Given the description of an element on the screen output the (x, y) to click on. 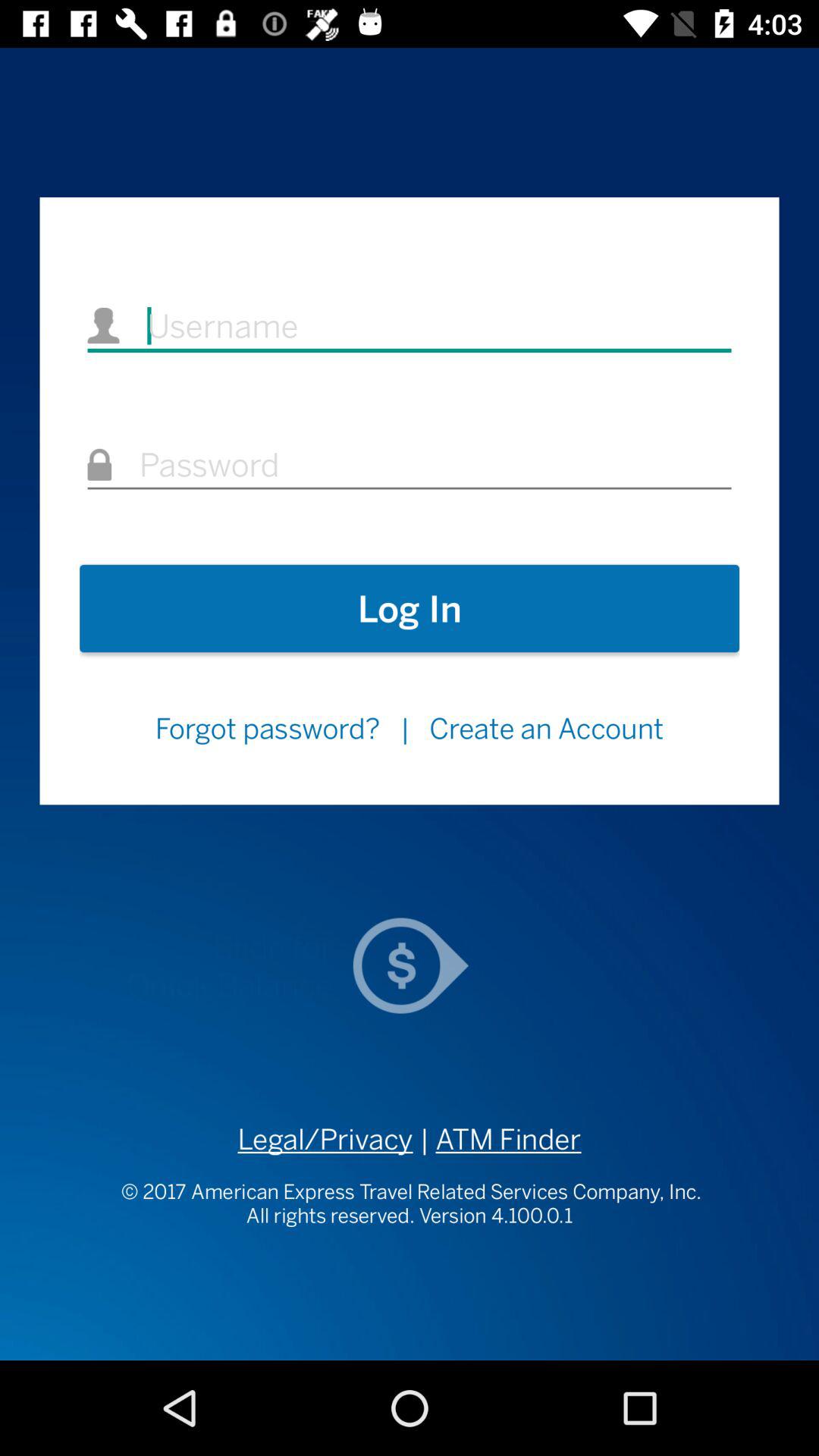
press legal/privacy (325, 1138)
